Given the description of an element on the screen output the (x, y) to click on. 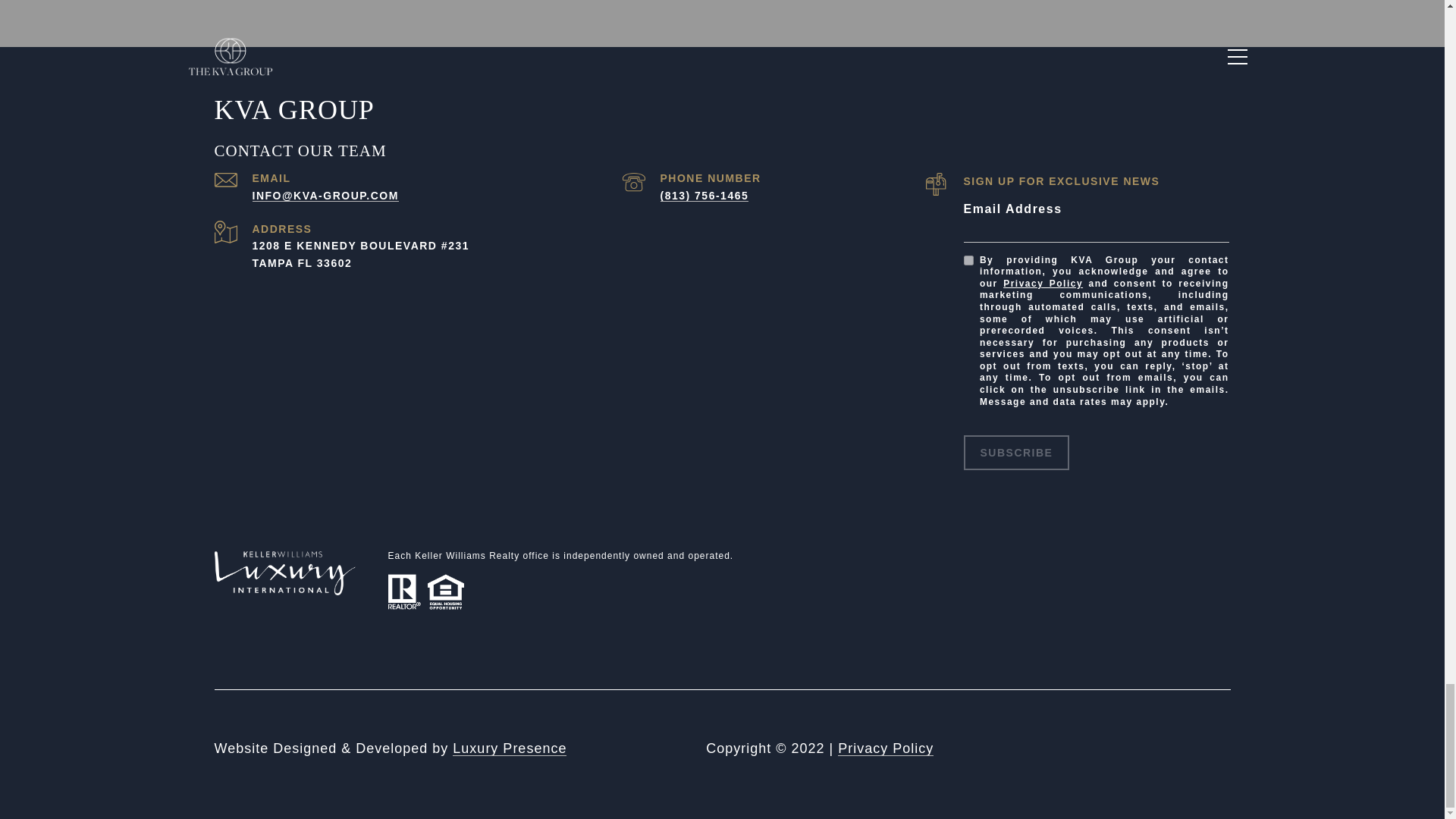
on (967, 260)
